Given the description of an element on the screen output the (x, y) to click on. 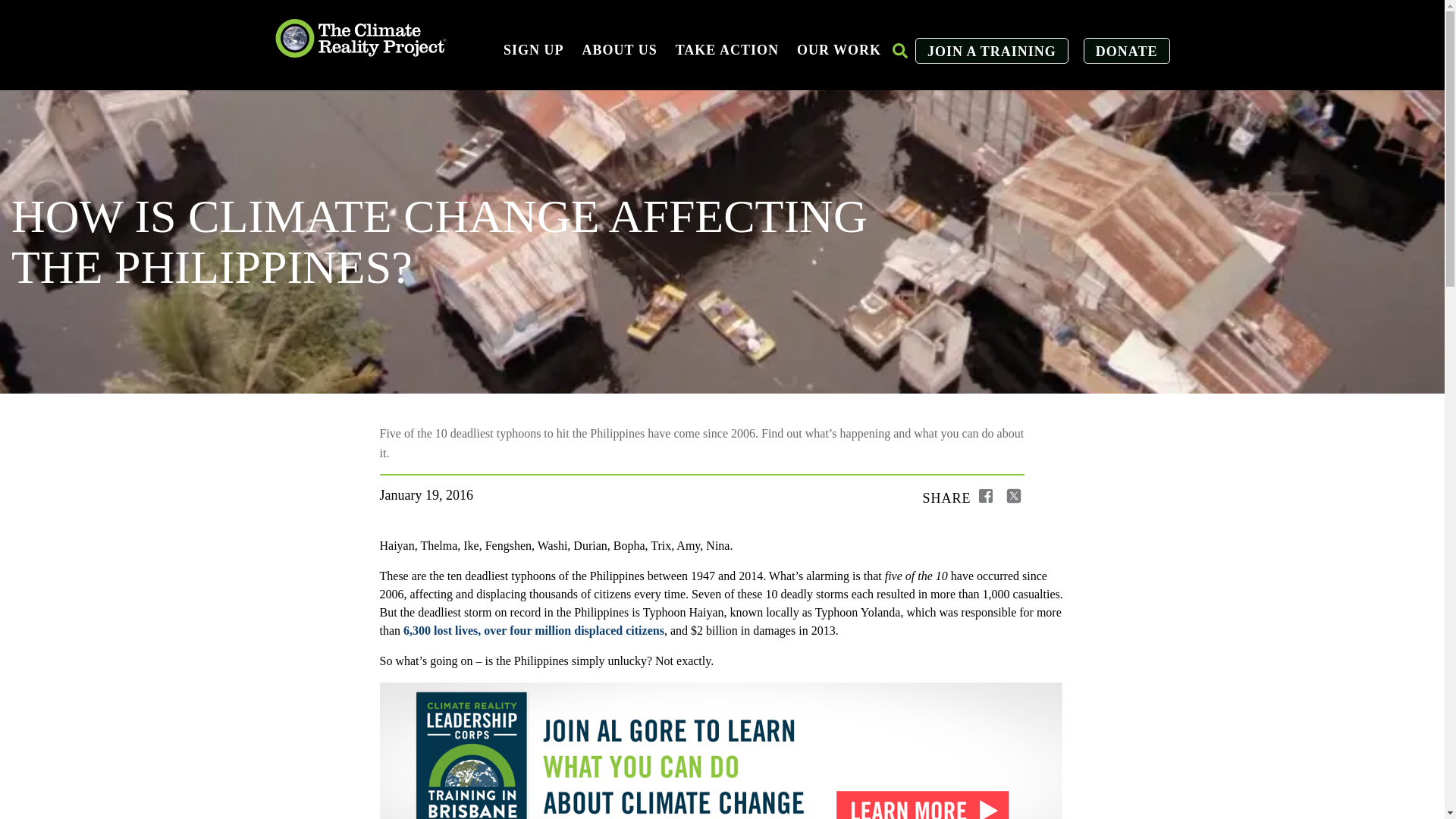
ABOUT US (620, 49)
JOIN A TRAINING (992, 51)
6,300 lost lives, over four million displaced citizens (533, 630)
search (899, 50)
DONATE (1126, 51)
SIGN UP (533, 49)
OUR WORK (838, 49)
TAKE ACTION (726, 49)
